Given the description of an element on the screen output the (x, y) to click on. 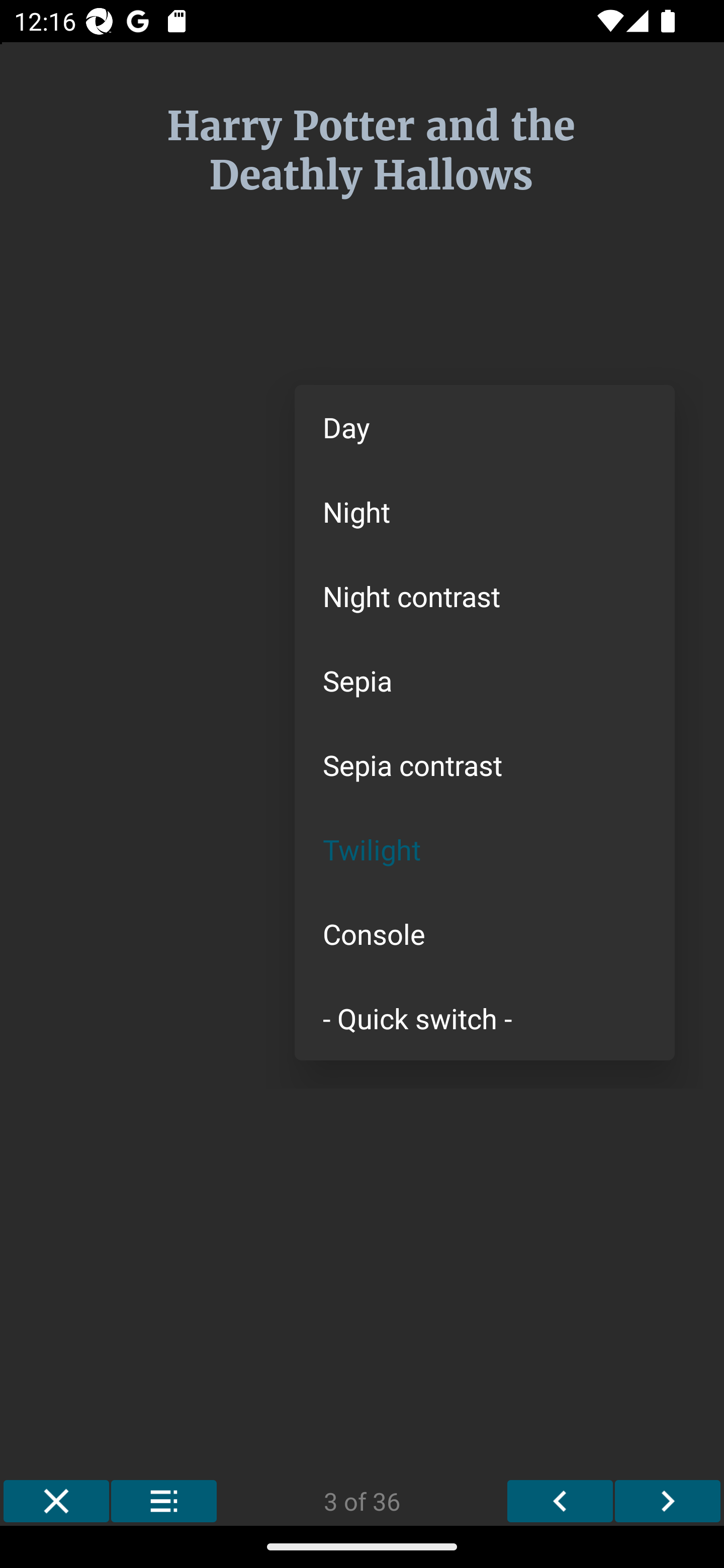
Day (484, 426)
Night (484, 510)
Night contrast (484, 595)
Sepia (484, 680)
Sepia contrast (484, 764)
Twilight (484, 849)
Console (484, 933)
- Quick switch - (484, 1017)
